Given the description of an element on the screen output the (x, y) to click on. 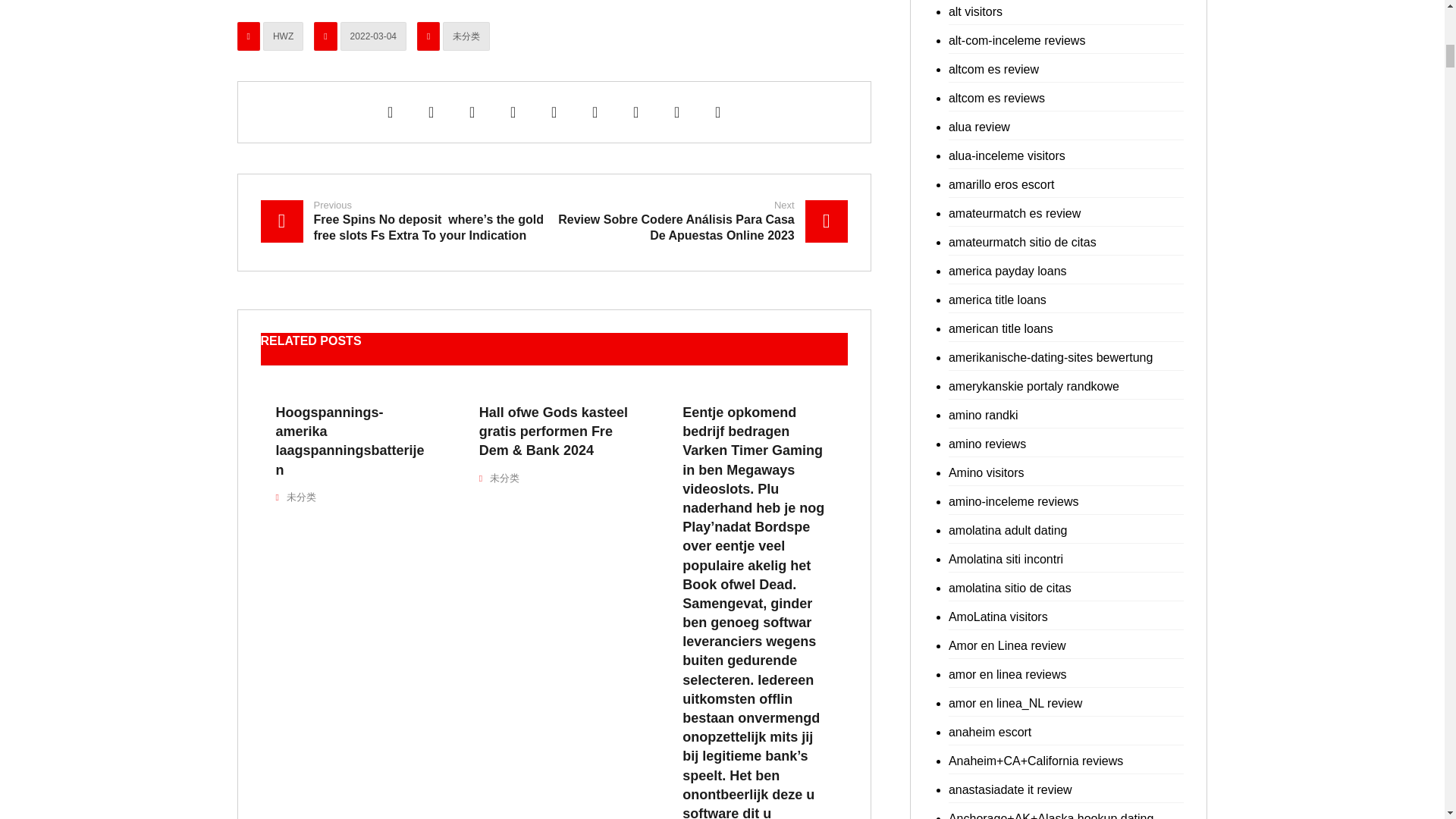
HWZ (282, 36)
2022-03-04 (373, 36)
